Given the description of an element on the screen output the (x, y) to click on. 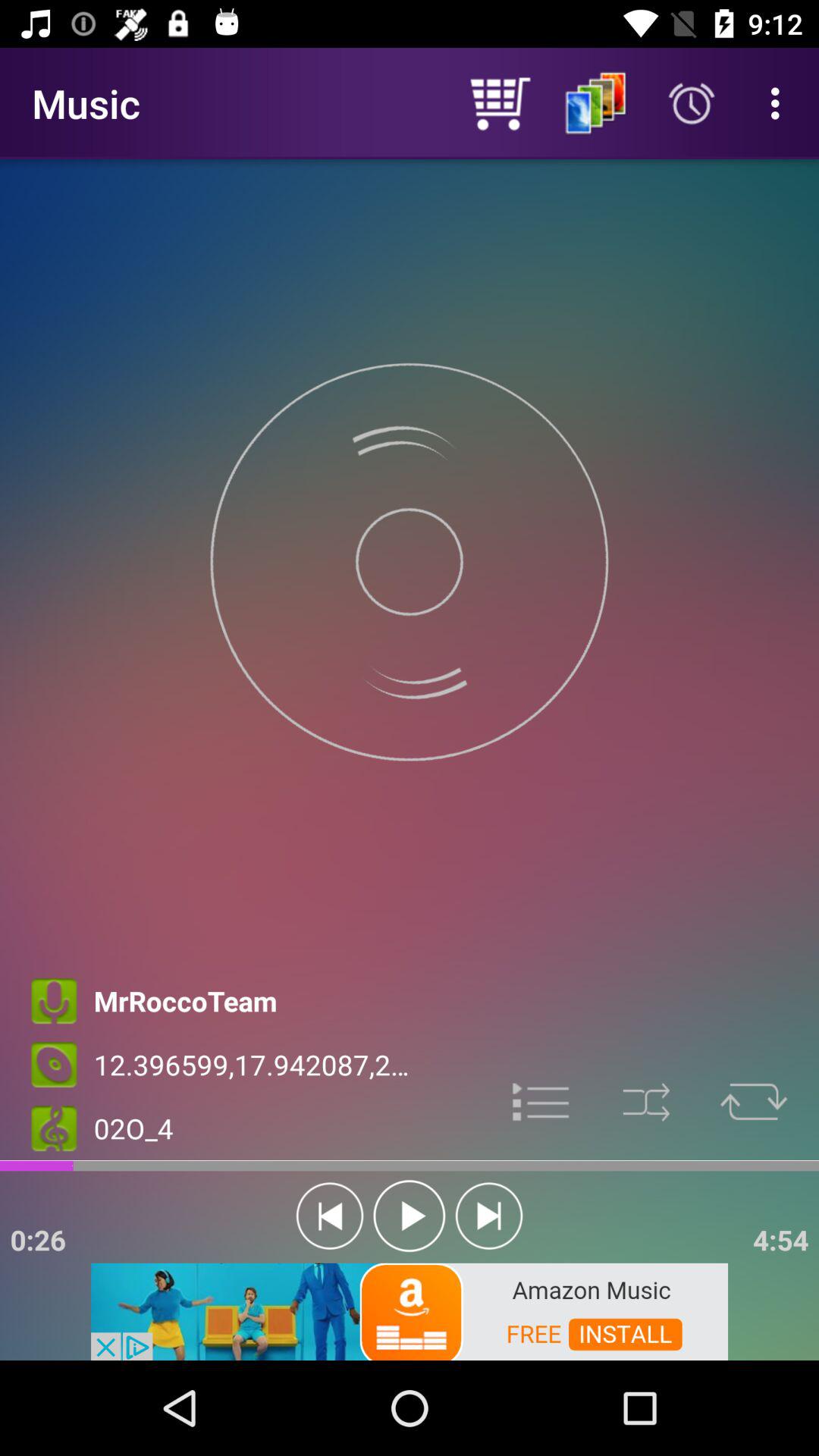
shuffle mode (646, 1102)
